Given the description of an element on the screen output the (x, y) to click on. 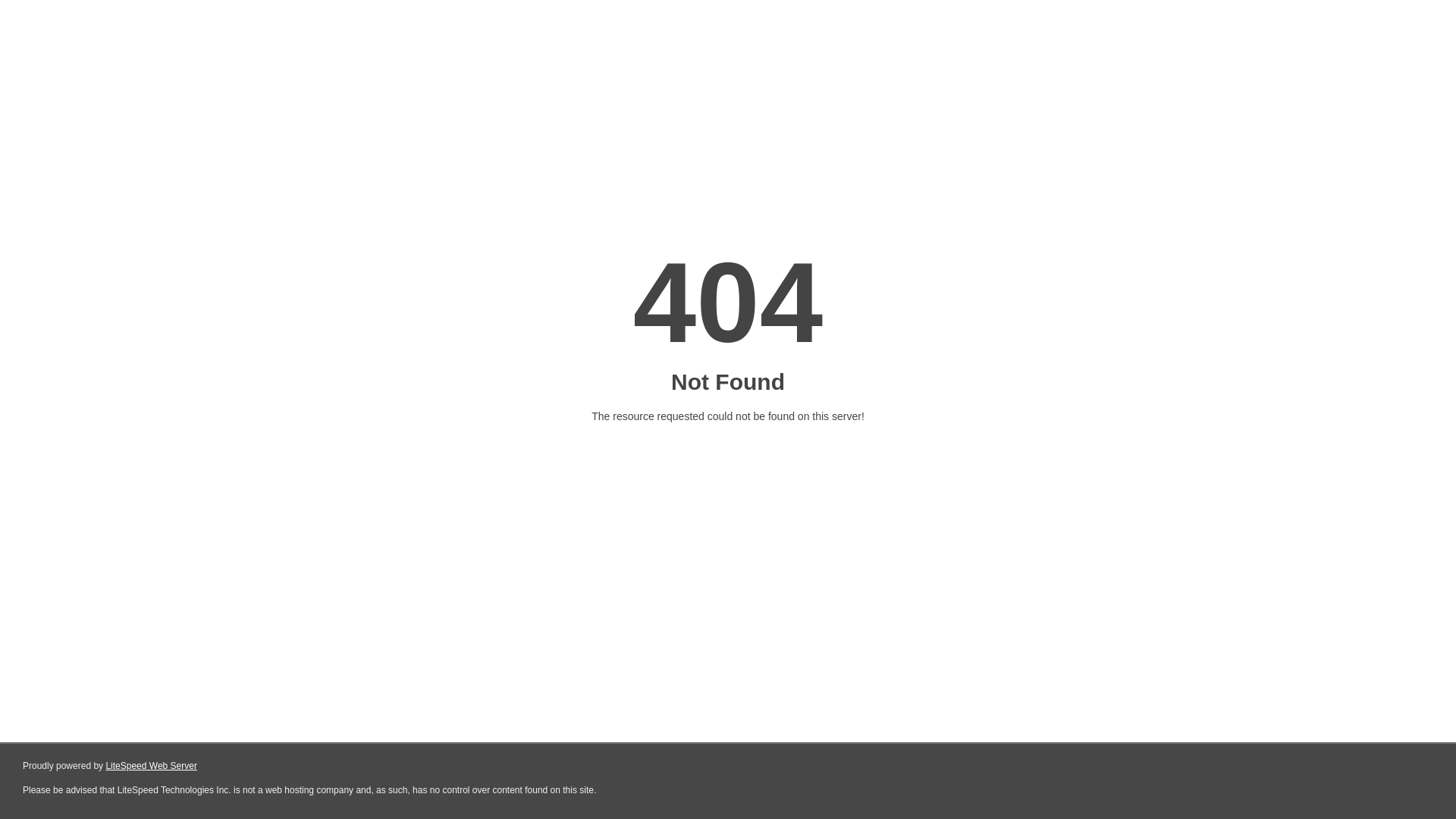
LiteSpeed Web Server Element type: text (151, 765)
